Given the description of an element on the screen output the (x, y) to click on. 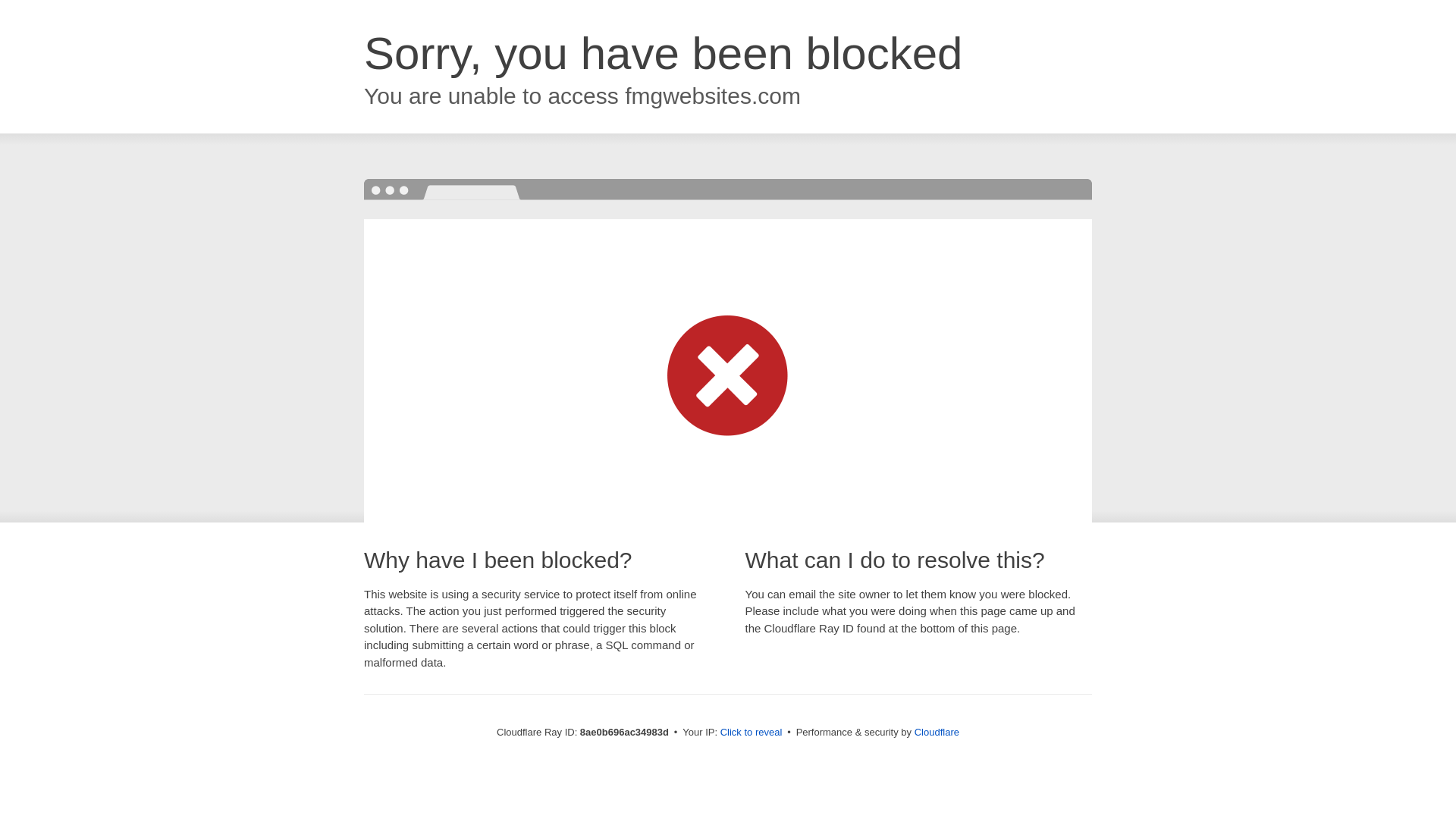
Click to reveal (751, 732)
Cloudflare (936, 731)
